Given the description of an element on the screen output the (x, y) to click on. 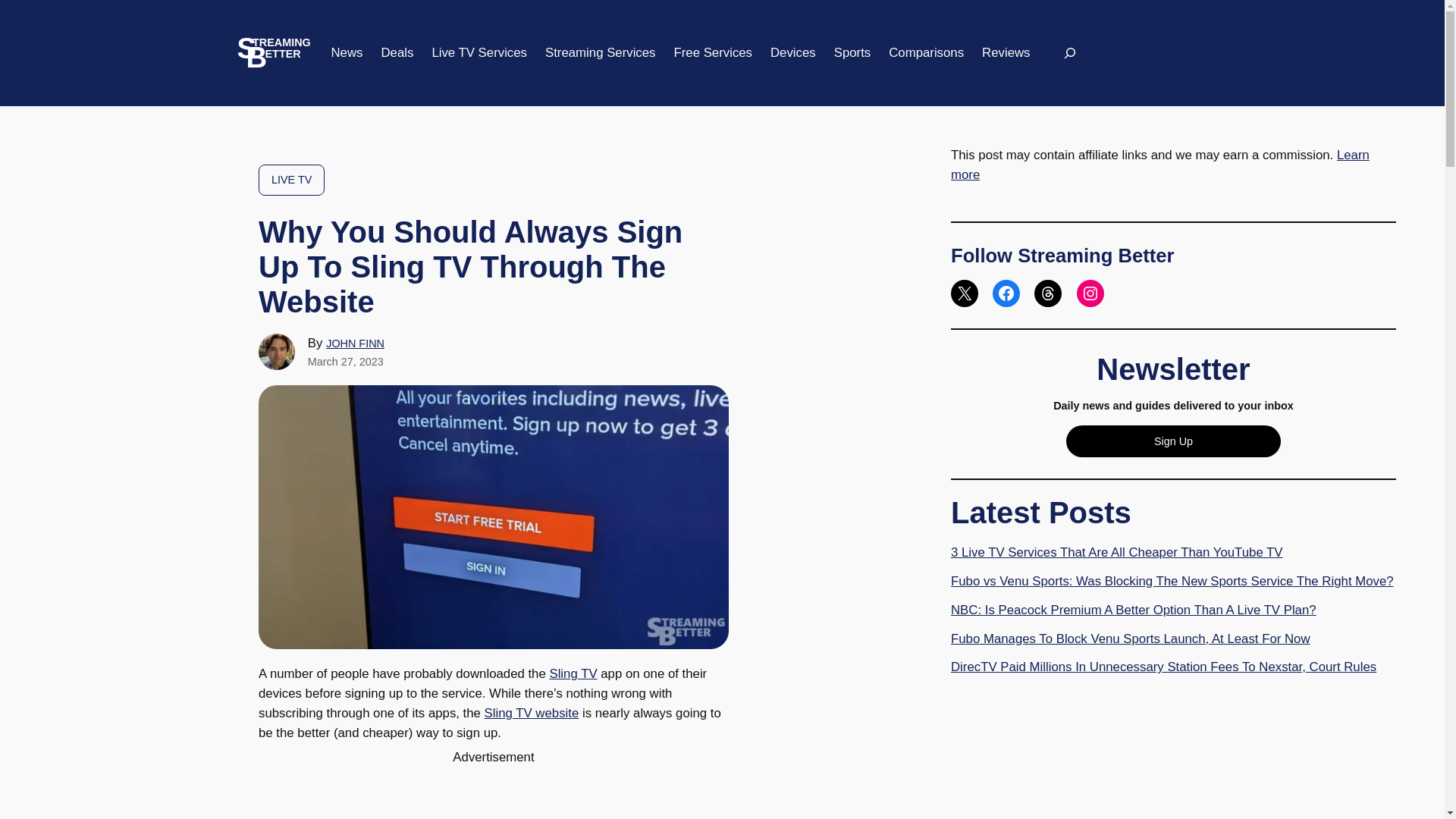
Free Services (712, 53)
Sling TV website (531, 712)
Advertisement (494, 793)
Sports (852, 53)
JOHN FINN (355, 343)
News (346, 53)
Devices (792, 53)
Comparisons (925, 53)
LIVE TV (291, 179)
Streaming Services (600, 53)
